Given the description of an element on the screen output the (x, y) to click on. 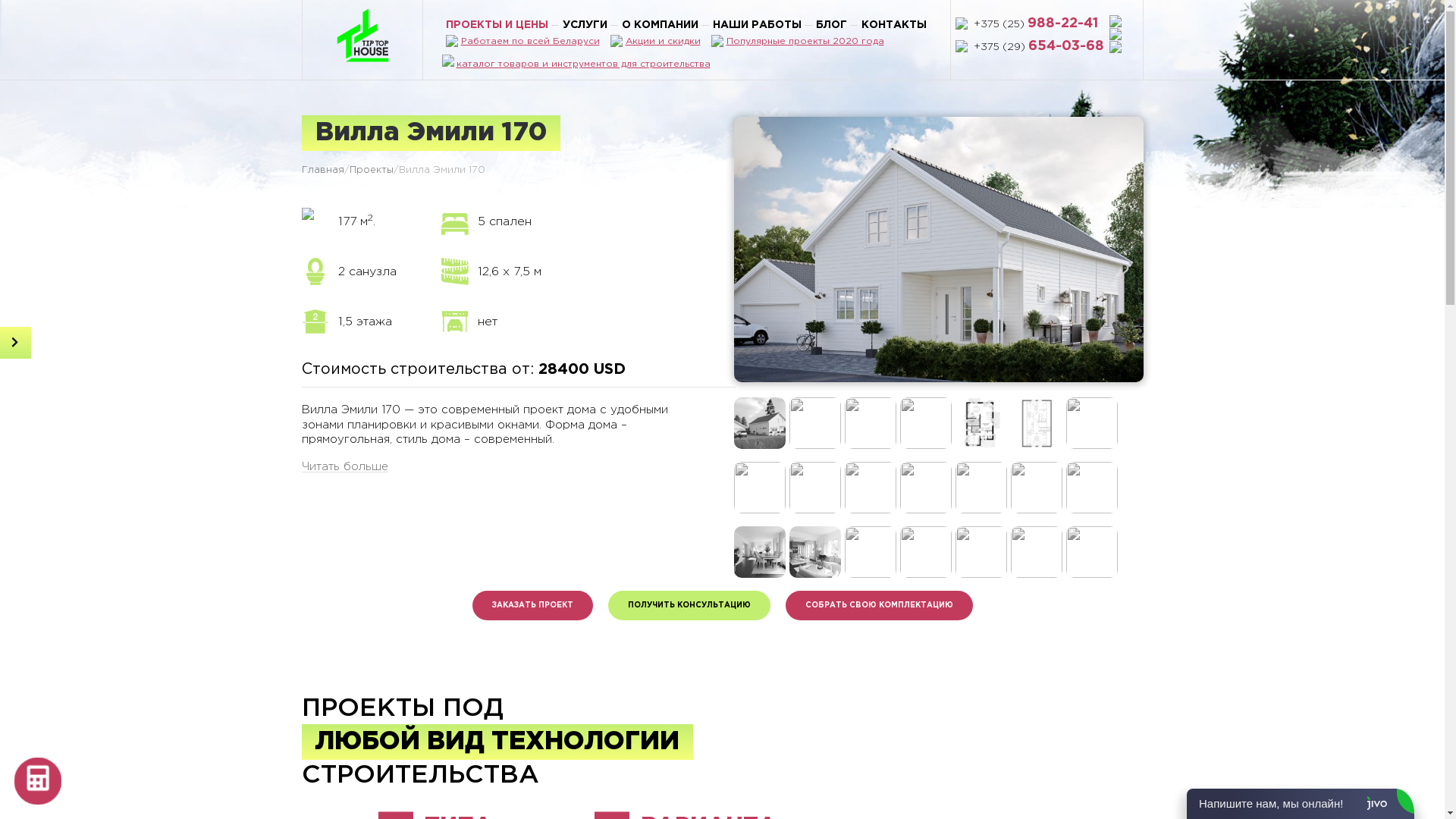
+375 (25) 988-22-41 Element type: text (1038, 23)
+375 (29) 654-03-68 Element type: text (1038, 46)
